Given the description of an element on the screen output the (x, y) to click on. 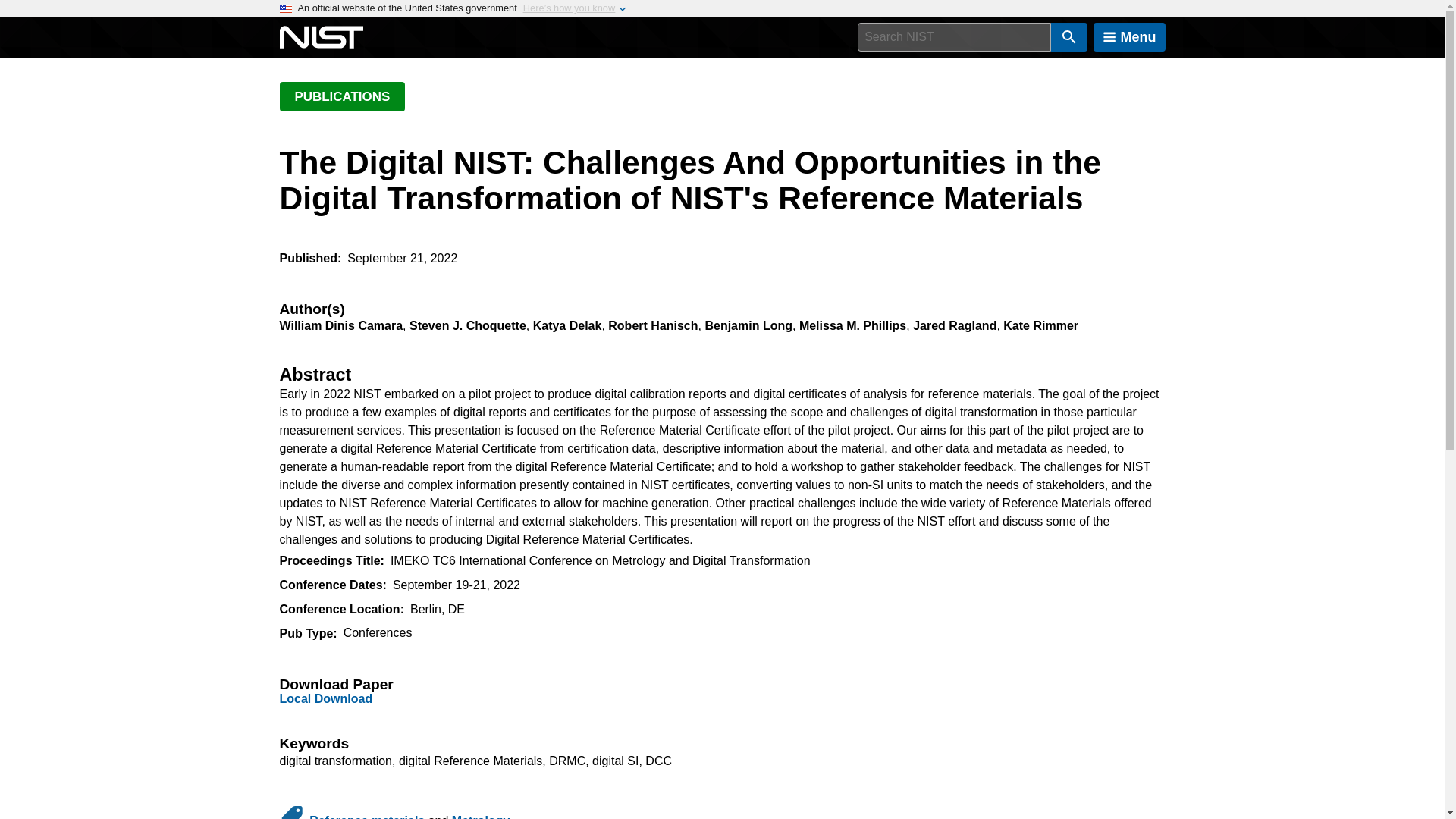
Reference materials (366, 816)
Local Download (325, 698)
PUBLICATIONS (341, 96)
National Institute of Standards and Technology (320, 36)
Metrology (480, 816)
Menu (1129, 36)
